Given the description of an element on the screen output the (x, y) to click on. 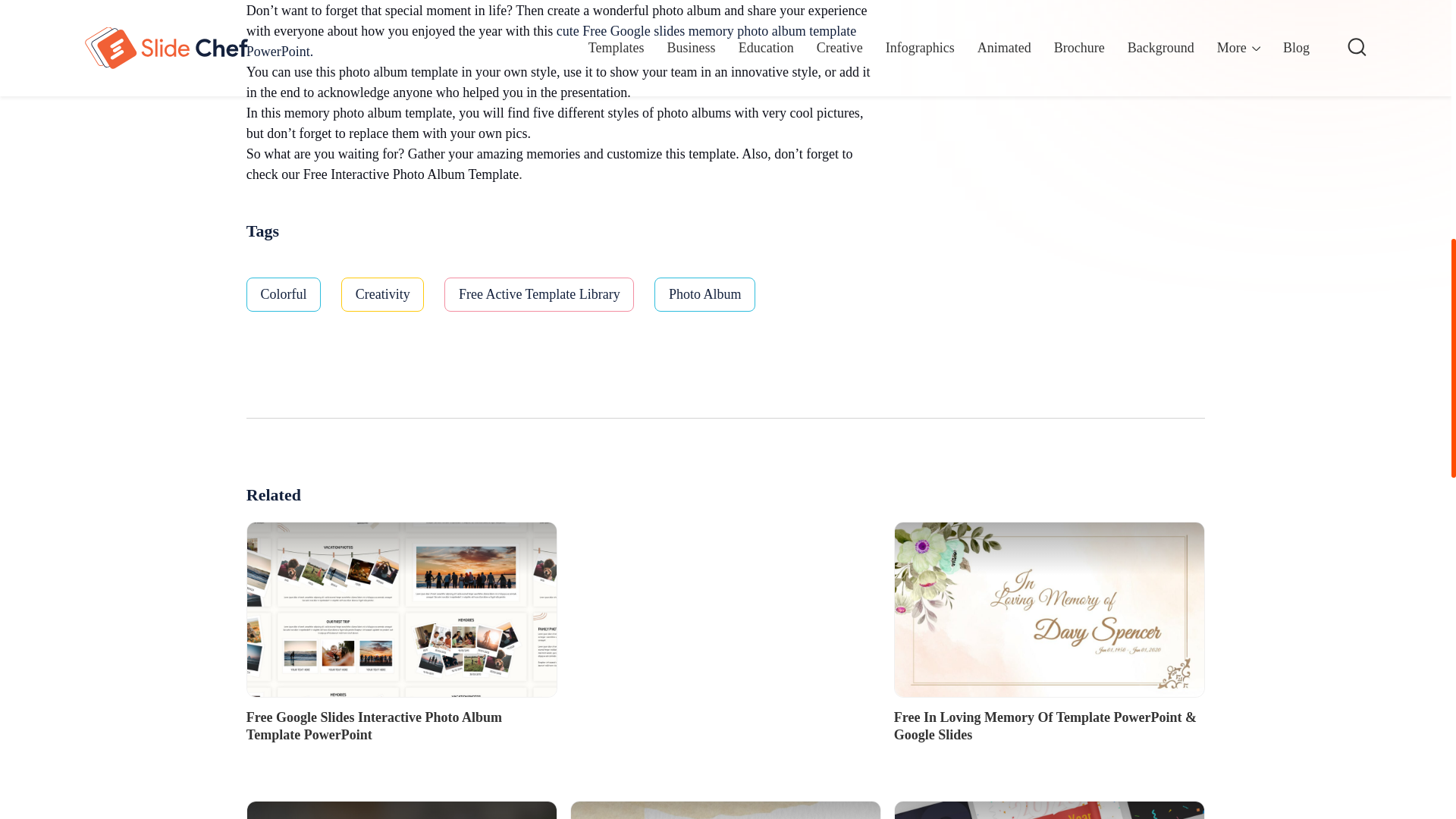
Advertisement (1021, 127)
Free Google Slides Scrapbook Template PowerPoint (724, 809)
